Given the description of an element on the screen output the (x, y) to click on. 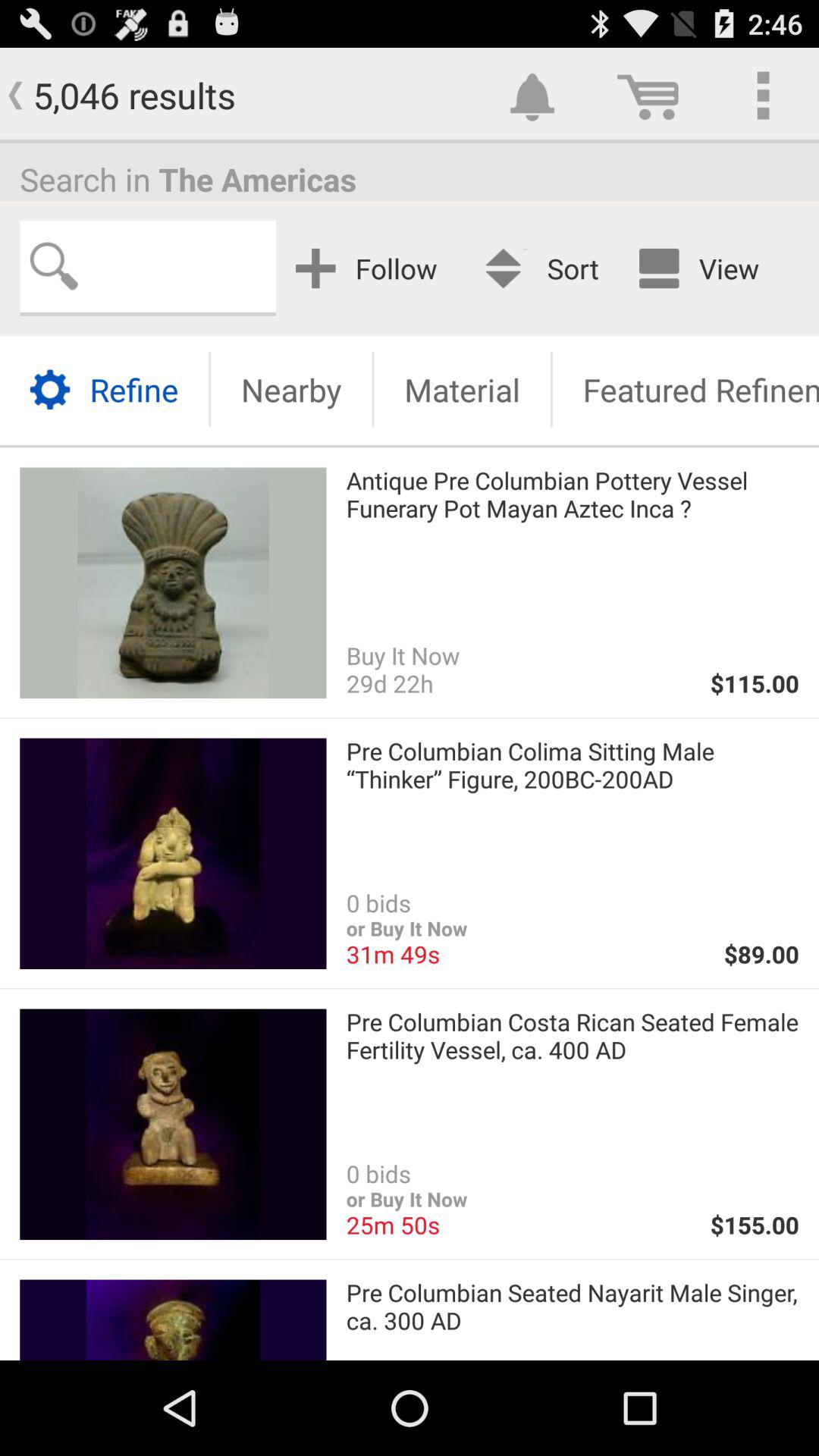
choose material button (462, 389)
